Given the description of an element on the screen output the (x, y) to click on. 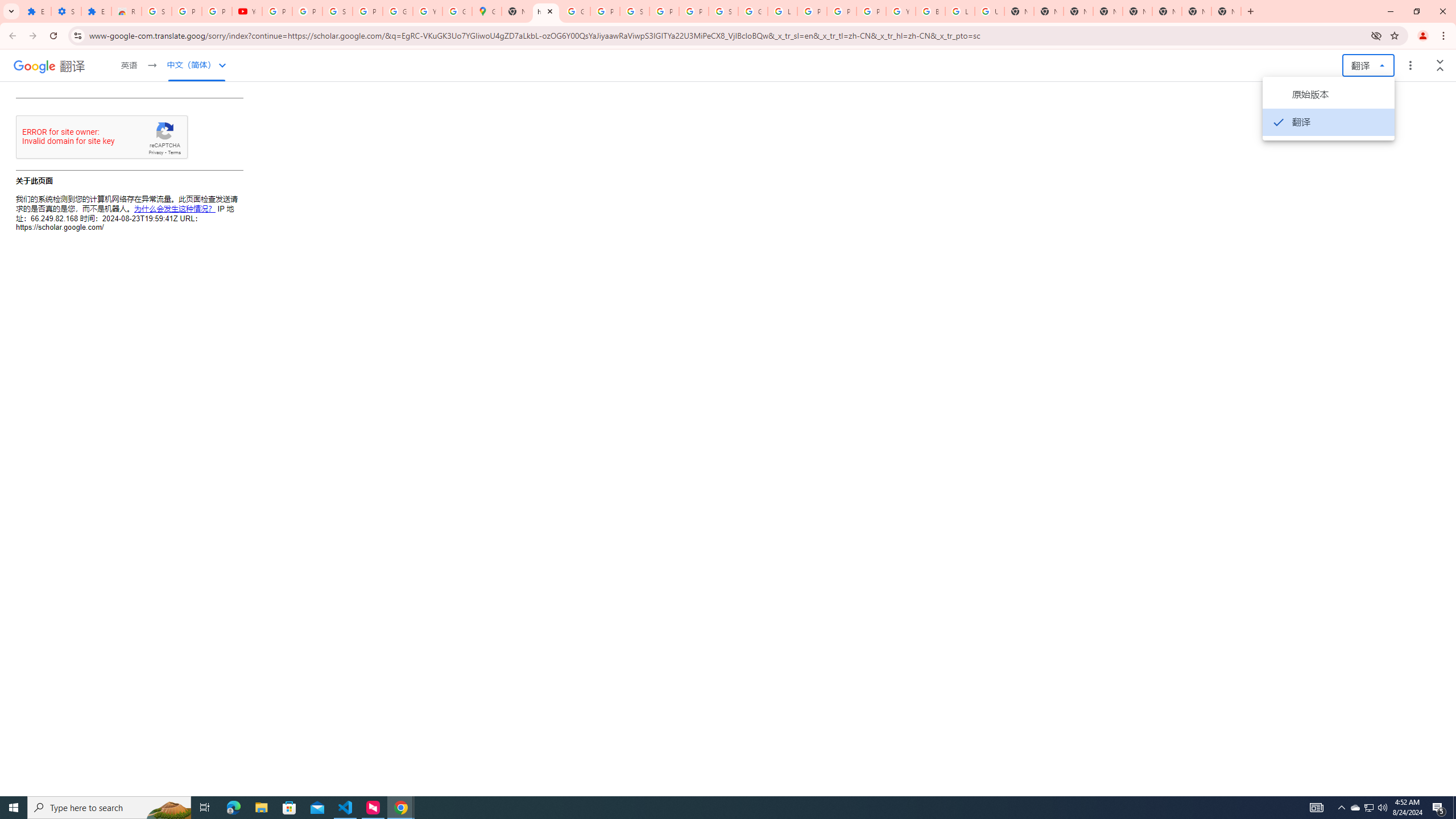
Privacy Help Center - Policies Help (811, 11)
Google (34, 65)
